Given the description of an element on the screen output the (x, y) to click on. 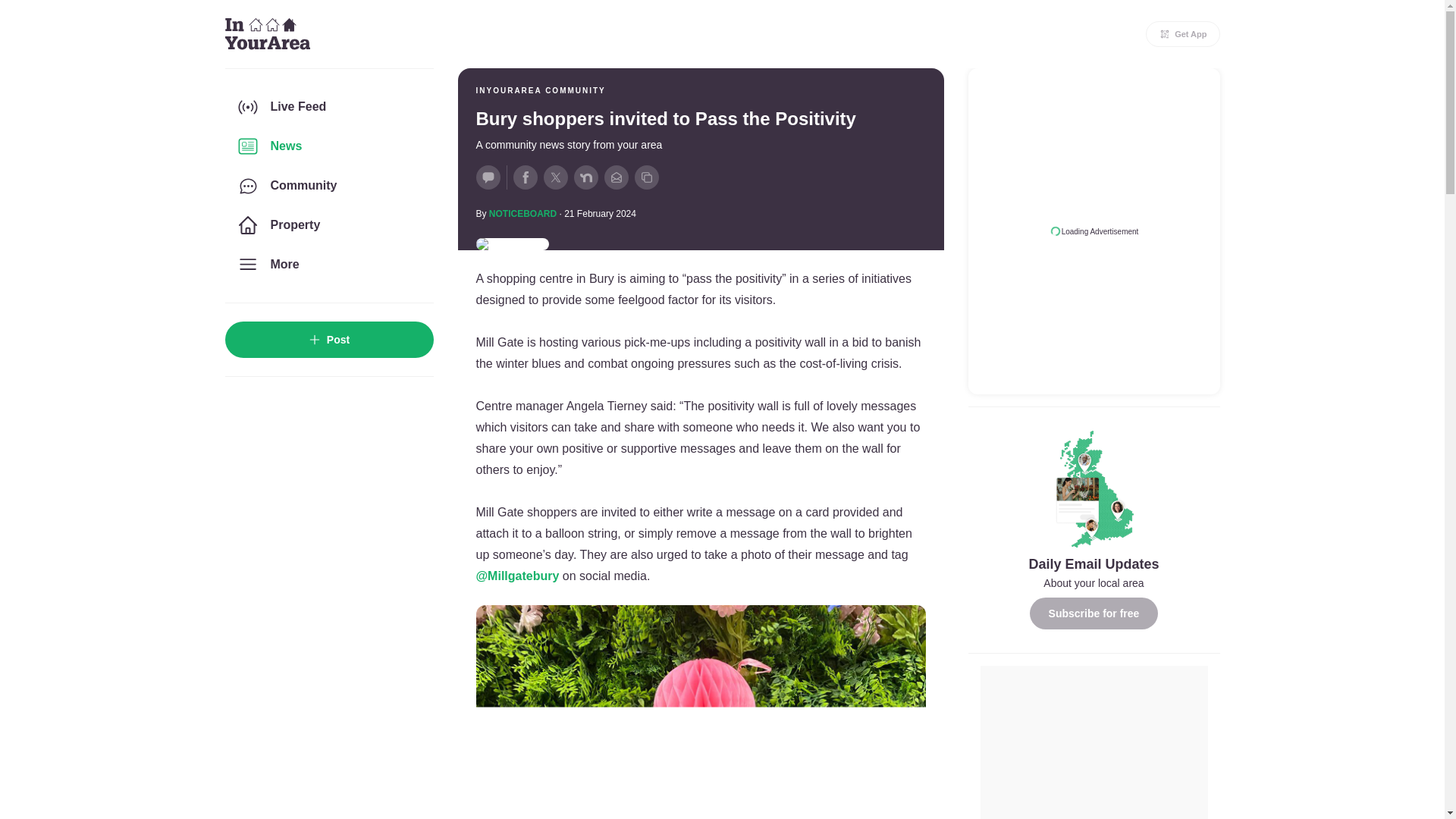
Share to Facebook (524, 177)
Community (328, 185)
Copy to clipboard (645, 177)
Social Button (488, 177)
Get App (1182, 33)
News (328, 146)
INYOURAREA COMMUNITY (540, 90)
Share to Nextdoor (584, 177)
Get App (1182, 33)
Post (328, 339)
